Given the description of an element on the screen output the (x, y) to click on. 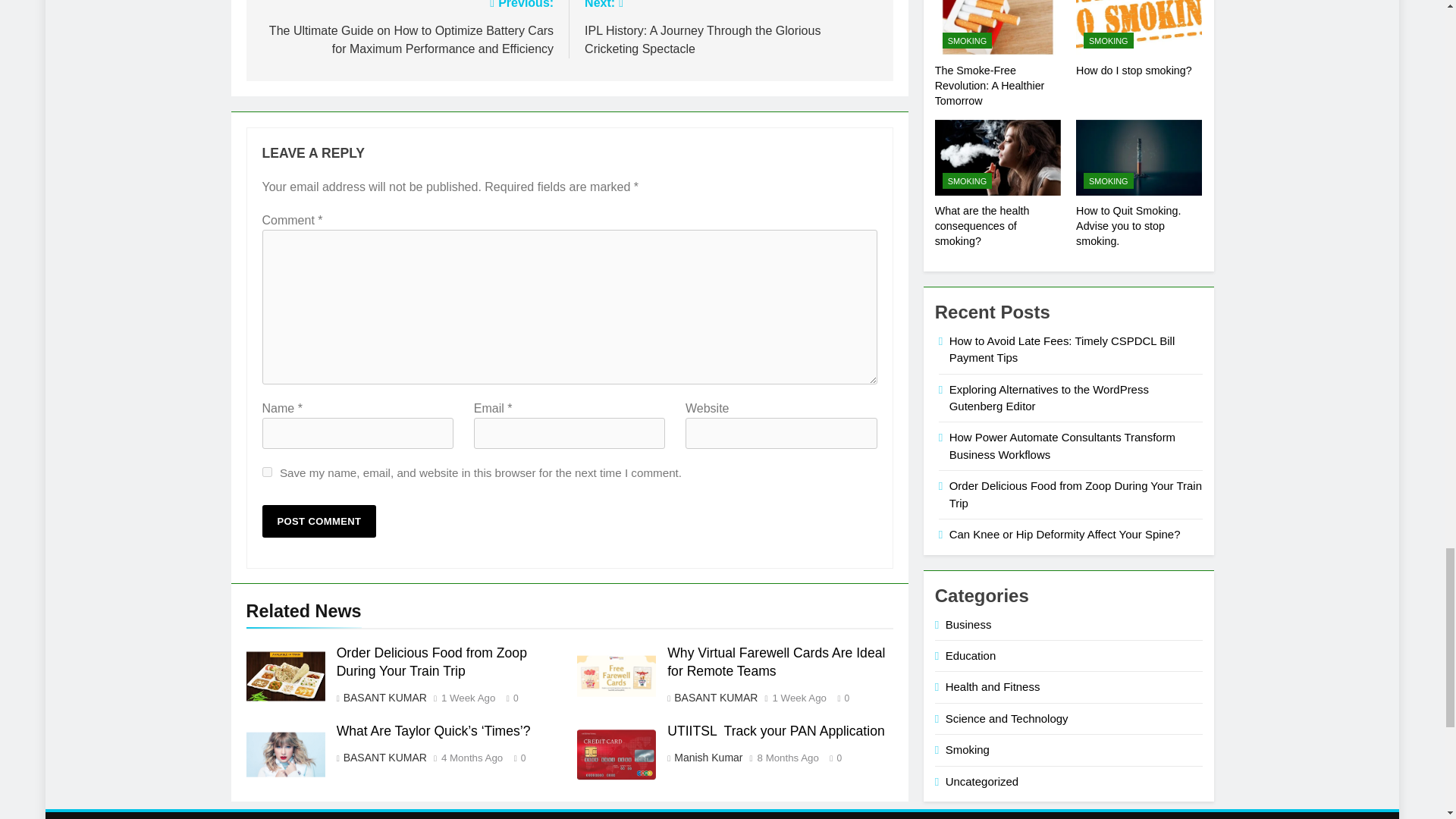
Post Comment (319, 521)
yes (267, 471)
